Given the description of an element on the screen output the (x, y) to click on. 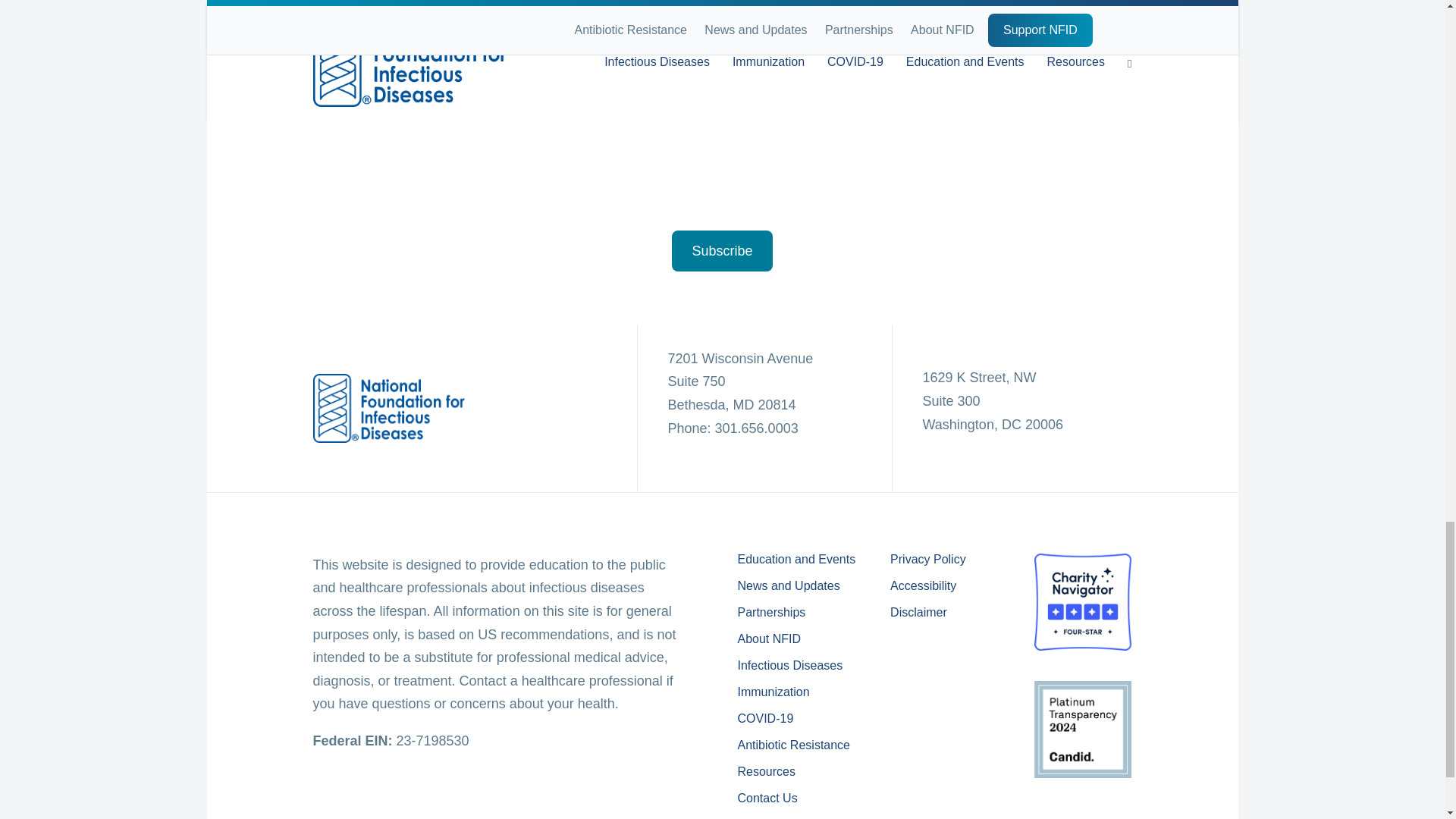
Four-Star Rating Badge - Full Color (1082, 601)
candid-seal-platinum-2024 (1082, 729)
vaccine-safety-net (1083, 813)
